Given the description of an element on the screen output the (x, y) to click on. 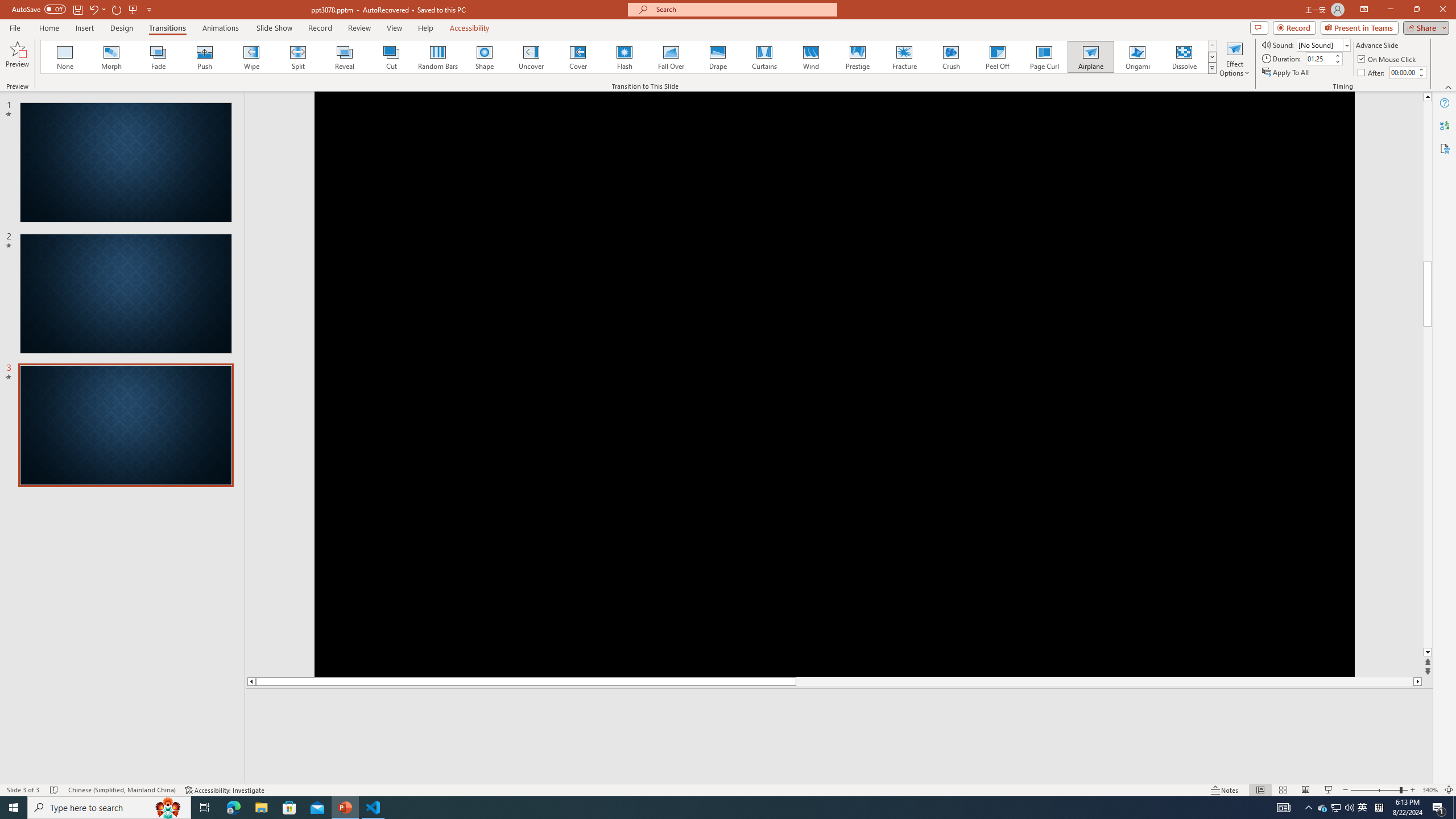
Origami (1136, 56)
Fracture (903, 56)
Fall Over (670, 56)
Push (205, 56)
